Given the description of an element on the screen output the (x, y) to click on. 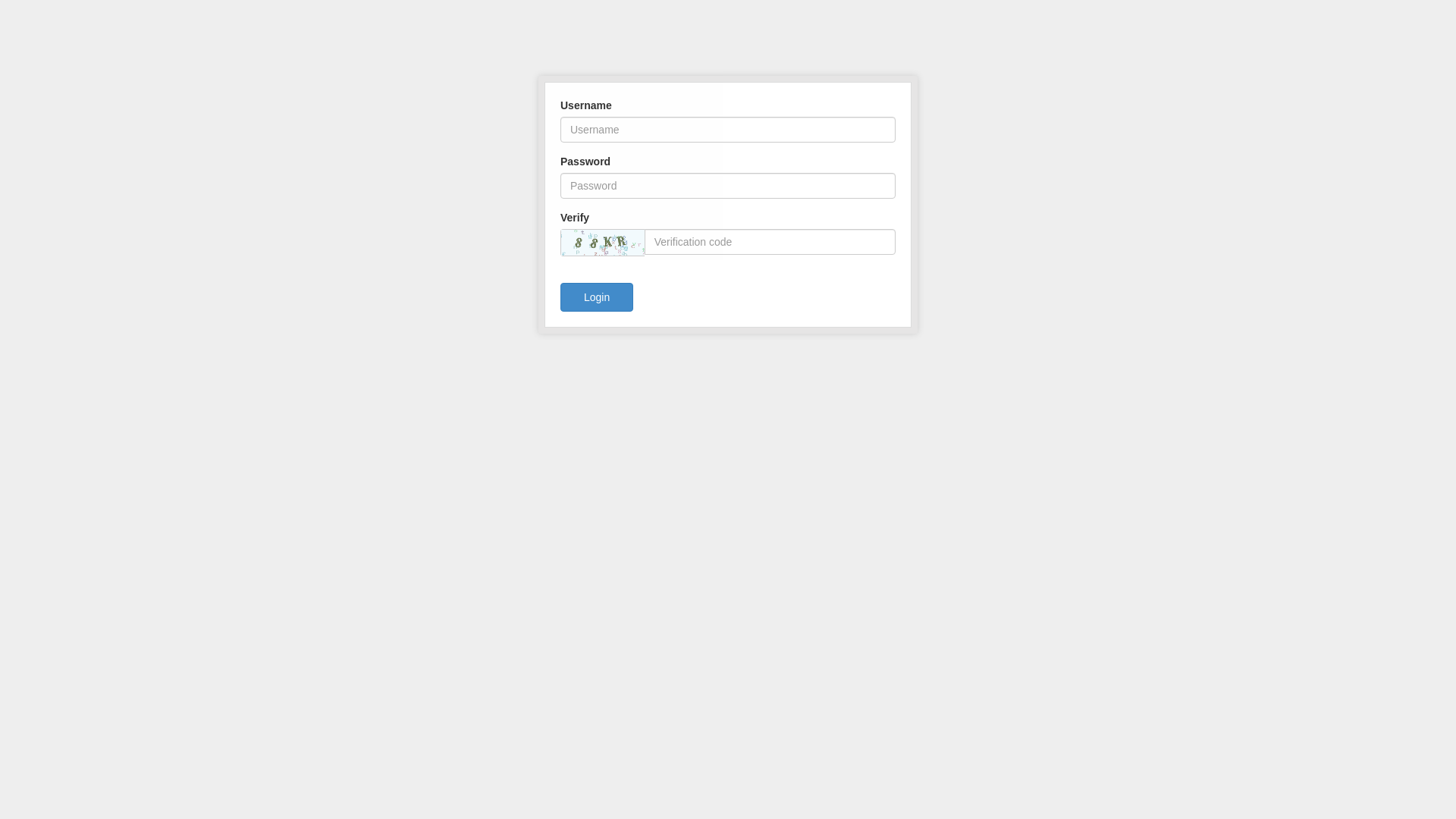
Login Element type: text (596, 296)
